Given the description of an element on the screen output the (x, y) to click on. 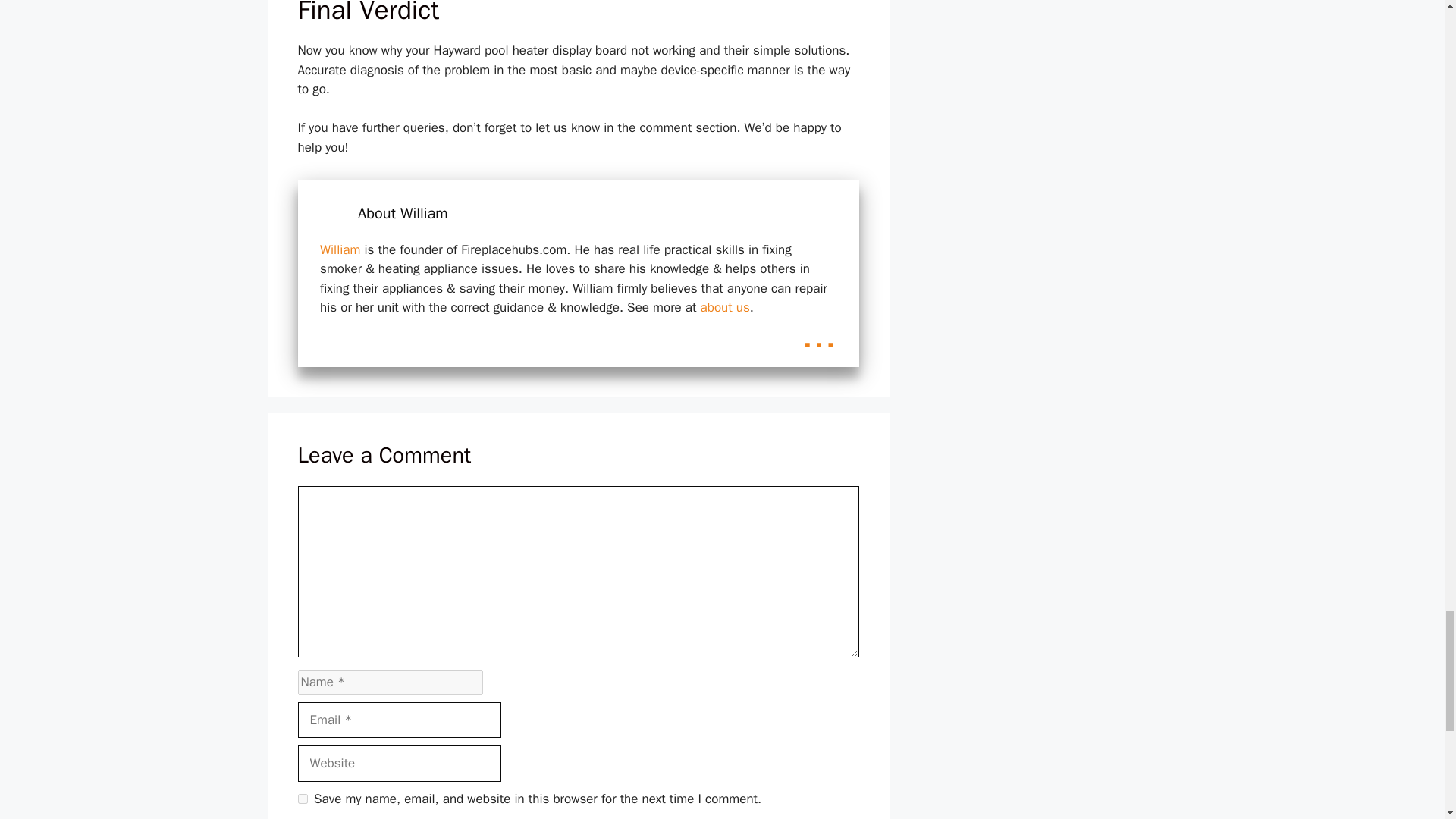
William (339, 249)
yes (302, 798)
Read more (818, 334)
about us (722, 307)
